Given the description of an element on the screen output the (x, y) to click on. 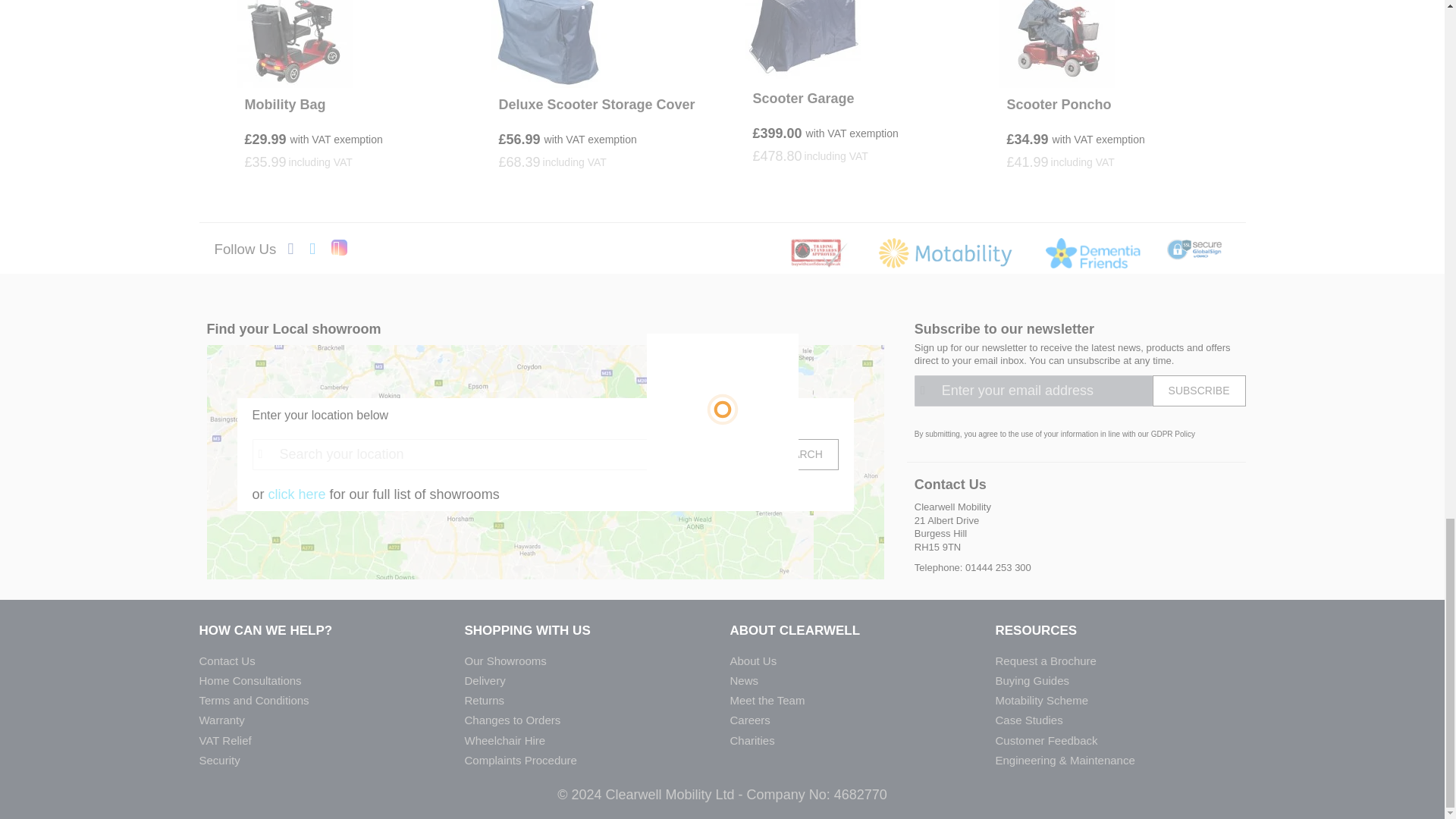
Scooter Poncho (1059, 104)
Scooter Garage (802, 98)
Mobility Bag (284, 104)
Deluxe Scooter Storage Cover (597, 104)
